Given the description of an element on the screen output the (x, y) to click on. 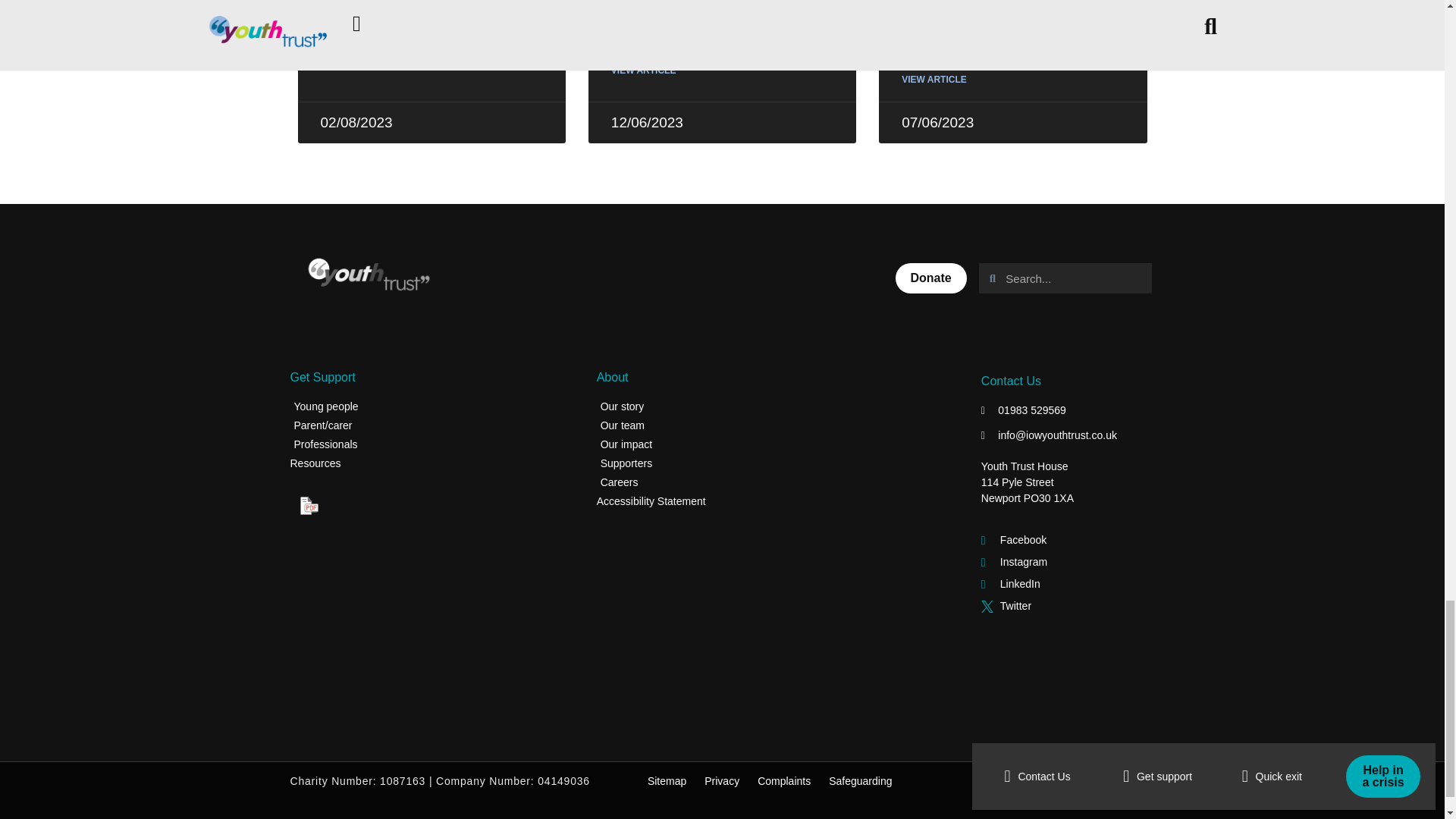
VIEW ARTICLE (644, 69)
Read more (644, 69)
Read more (933, 79)
Read more (352, 46)
VIEW ARTICLE (352, 46)
